Given the description of an element on the screen output the (x, y) to click on. 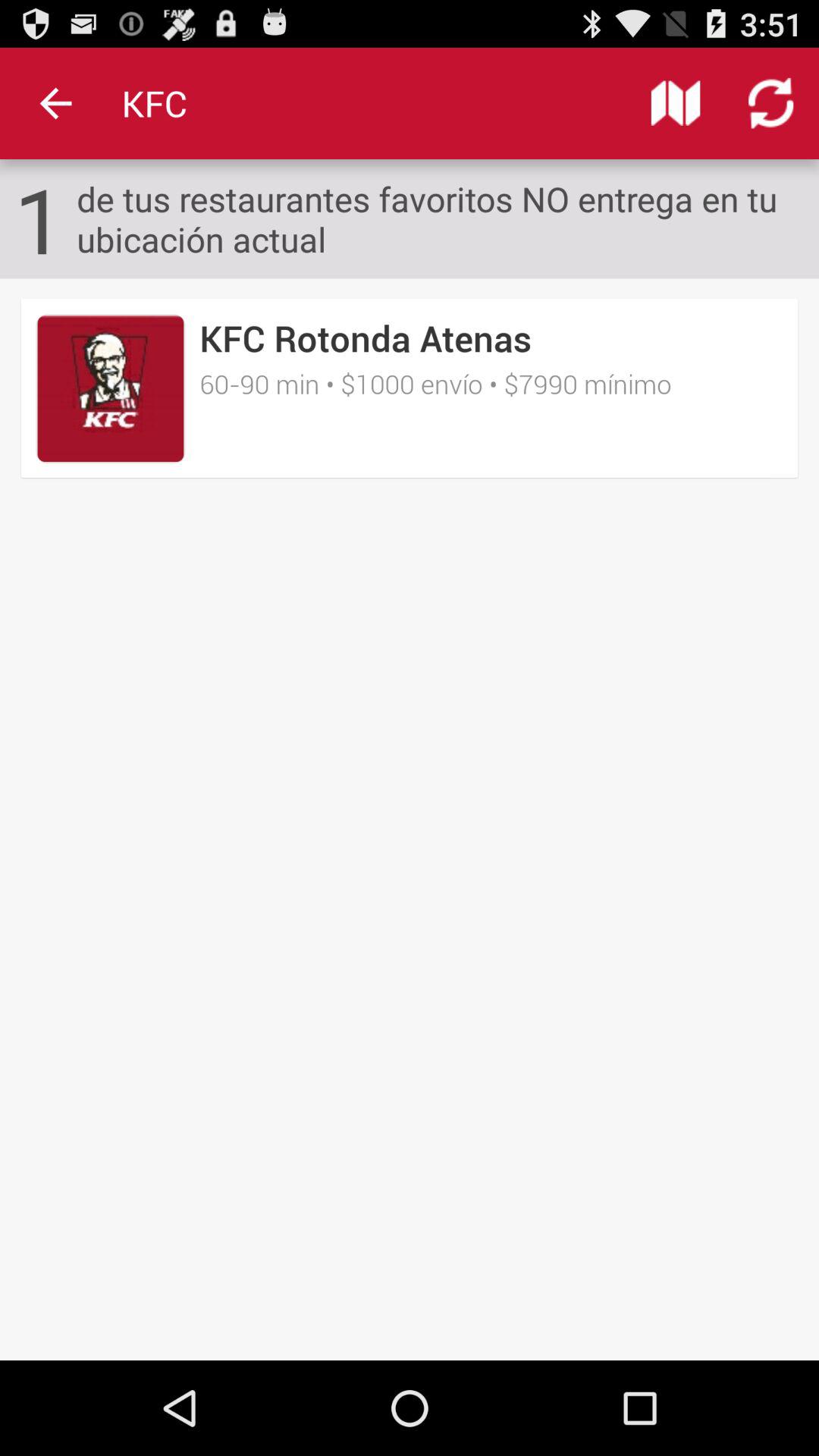
launch icon to the right of kfc (675, 103)
